Given the description of an element on the screen output the (x, y) to click on. 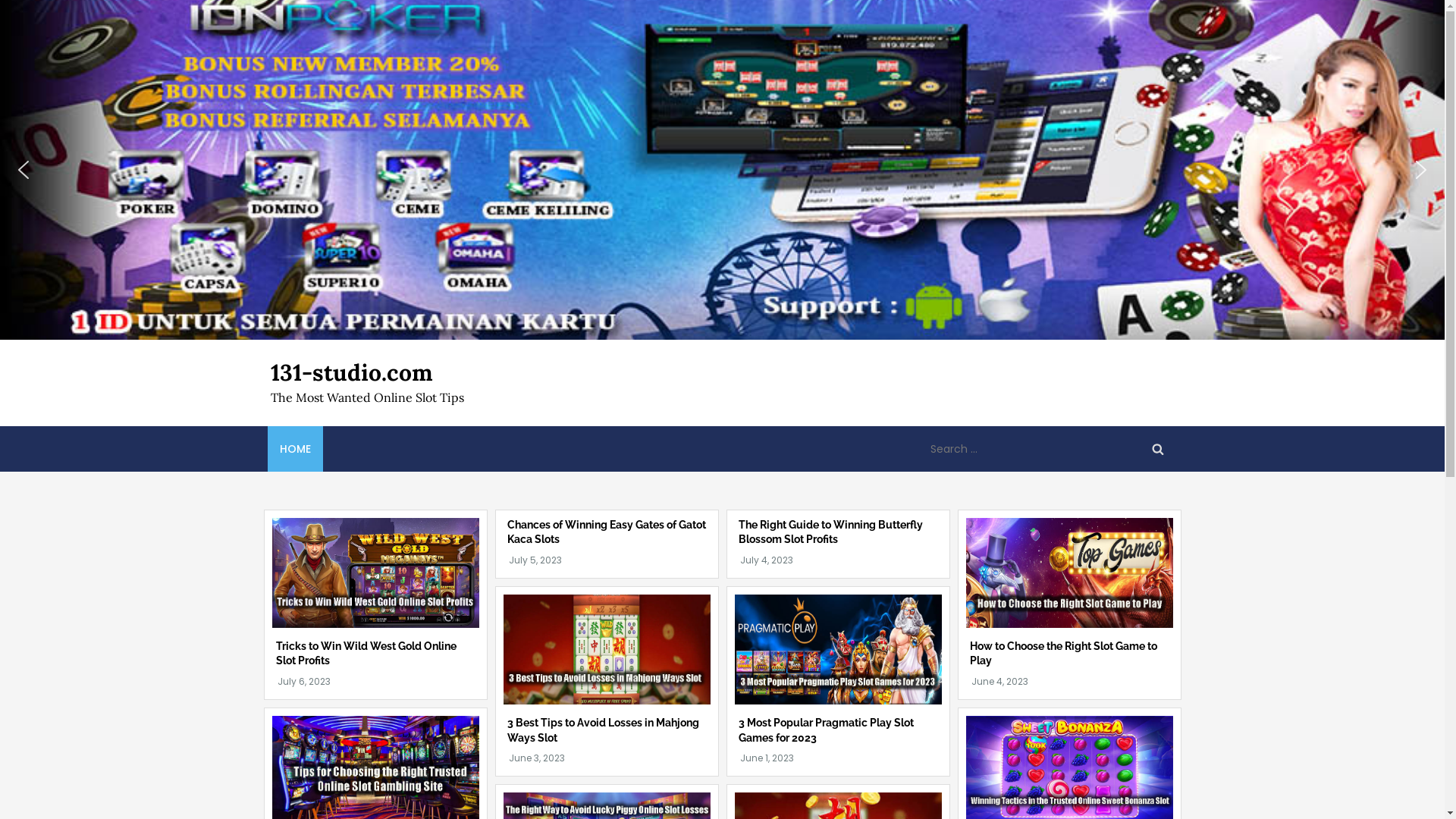
Tricks to Win Wild West Gold Online Slot Profits Element type: text (366, 653)
Search Element type: text (1156, 448)
131-studio.com Element type: text (350, 371)
June 4, 2023 Element type: text (998, 680)
Chances of Winning Easy Gates of Gatot Kaca Slots Element type: text (605, 532)
June 1, 2023 Element type: text (766, 757)
HOME Element type: text (294, 448)
July 6, 2023 Element type: text (303, 680)
July 4, 2023 Element type: text (766, 559)
3 Best Tips to Avoid Losses in Mahjong Ways Slot Element type: text (602, 729)
3 Most Popular Pragmatic Play Slot Games for 2023 Element type: text (825, 729)
How to Choose the Right Slot Game to Play Element type: text (1062, 653)
June 3, 2023 Element type: text (536, 757)
July 5, 2023 Element type: text (534, 559)
The Right Guide to Winning Butterfly Blossom Slot Profits Element type: text (830, 532)
